Given the description of an element on the screen output the (x, y) to click on. 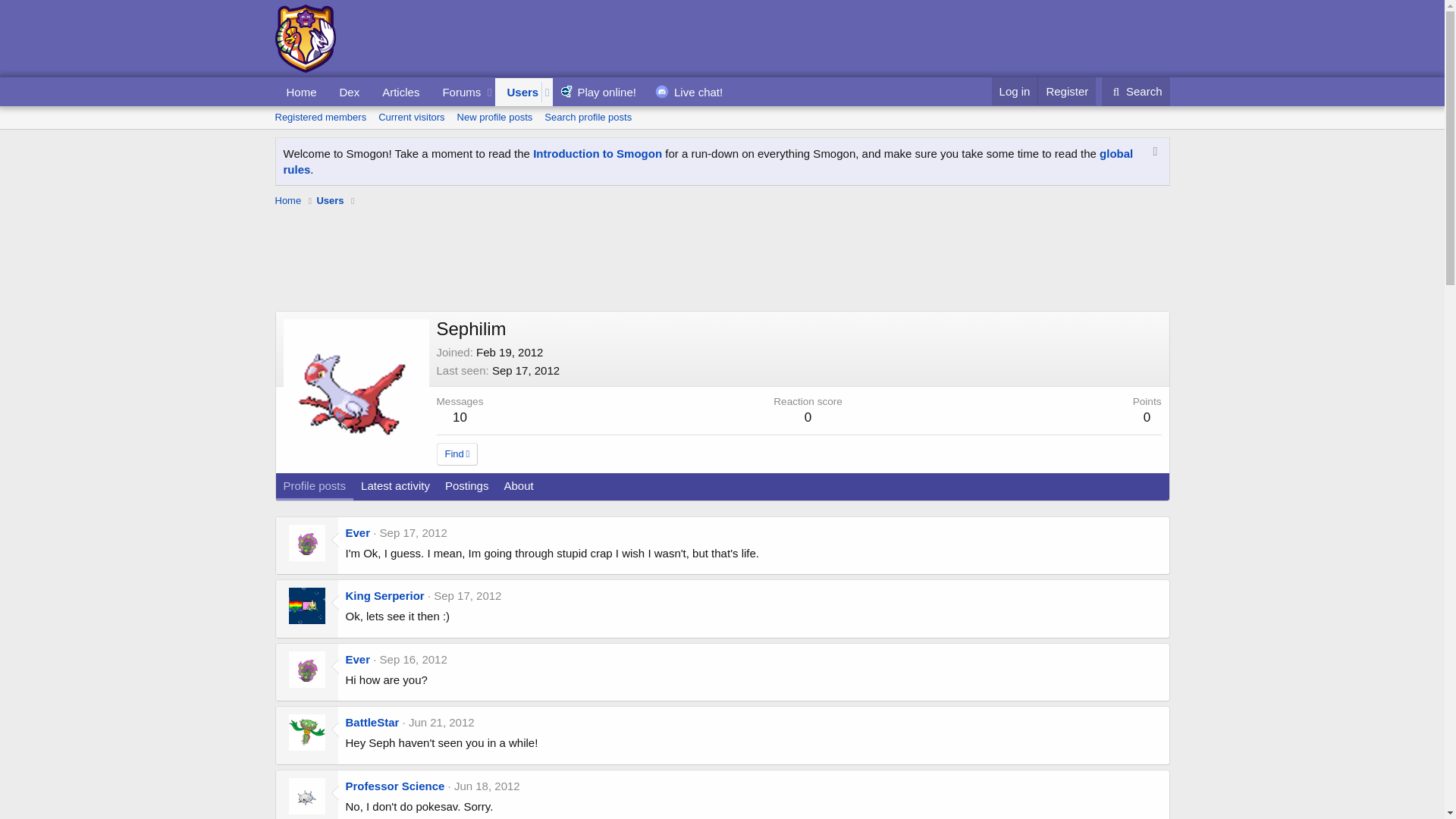
Profile posts Latest activity Postings About (408, 503)
Live chat! (503, 108)
Home (690, 91)
Users (288, 200)
Search profile posts (517, 91)
Current visitors (587, 117)
Sep 16, 2012 at 9:50 PM (410, 117)
Search (413, 658)
Play online! (1136, 91)
